Given the description of an element on the screen output the (x, y) to click on. 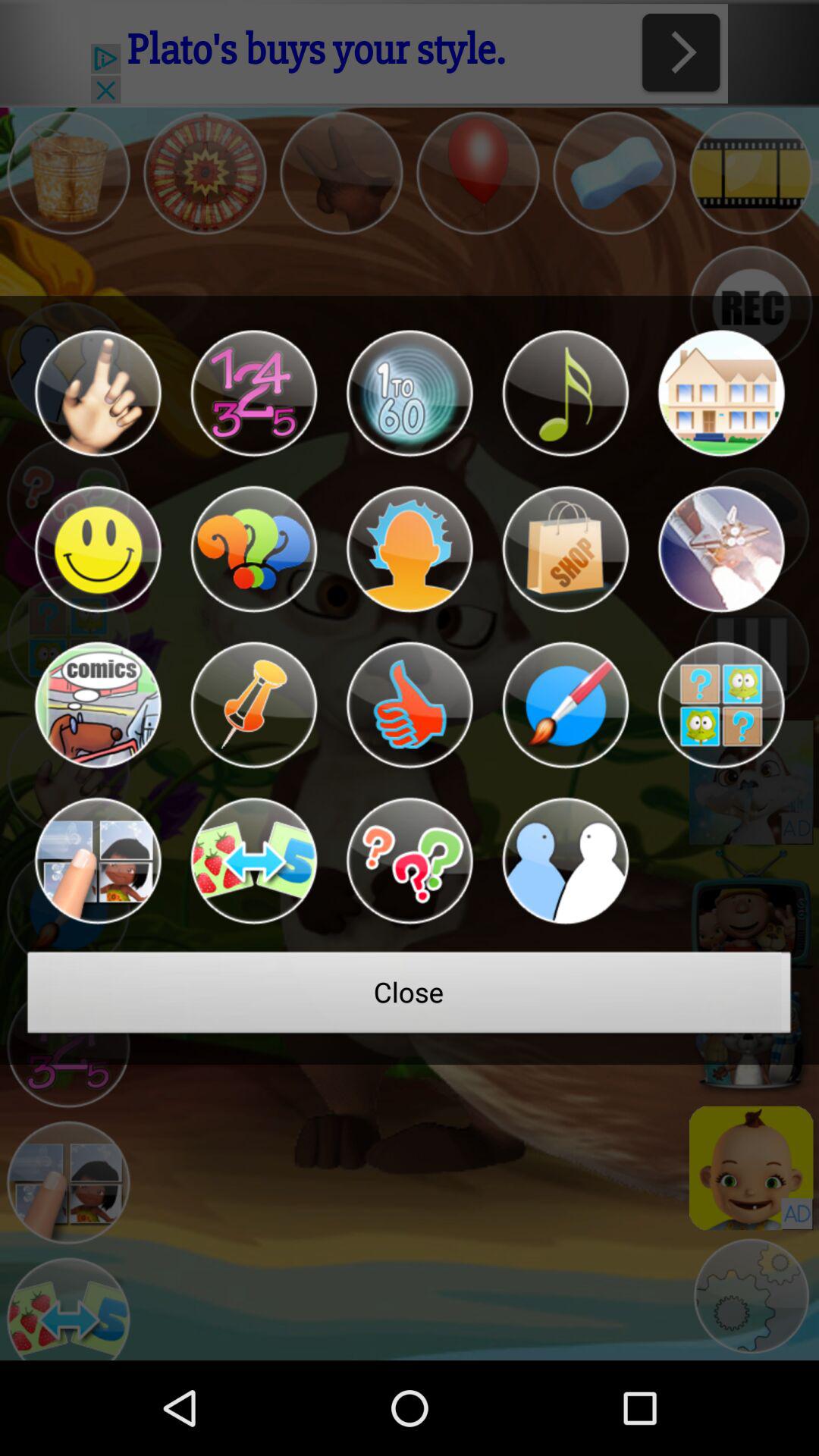
select numbers (253, 393)
